Given the description of an element on the screen output the (x, y) to click on. 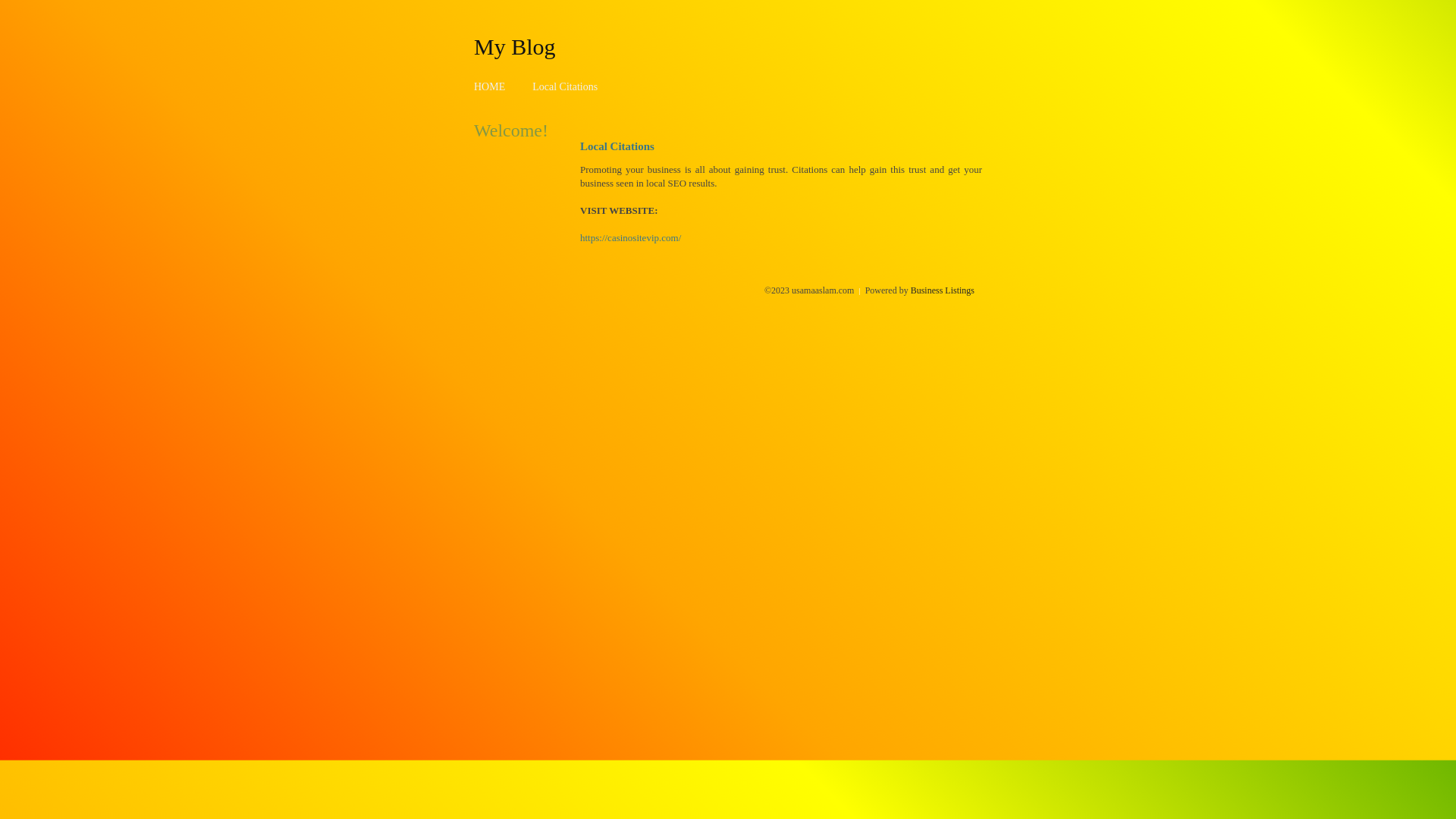
Local Citations Element type: text (564, 86)
https://casinositevip.com/ Element type: text (630, 237)
Business Listings Element type: text (942, 290)
My Blog Element type: text (514, 46)
HOME Element type: text (489, 86)
